Given the description of an element on the screen output the (x, y) to click on. 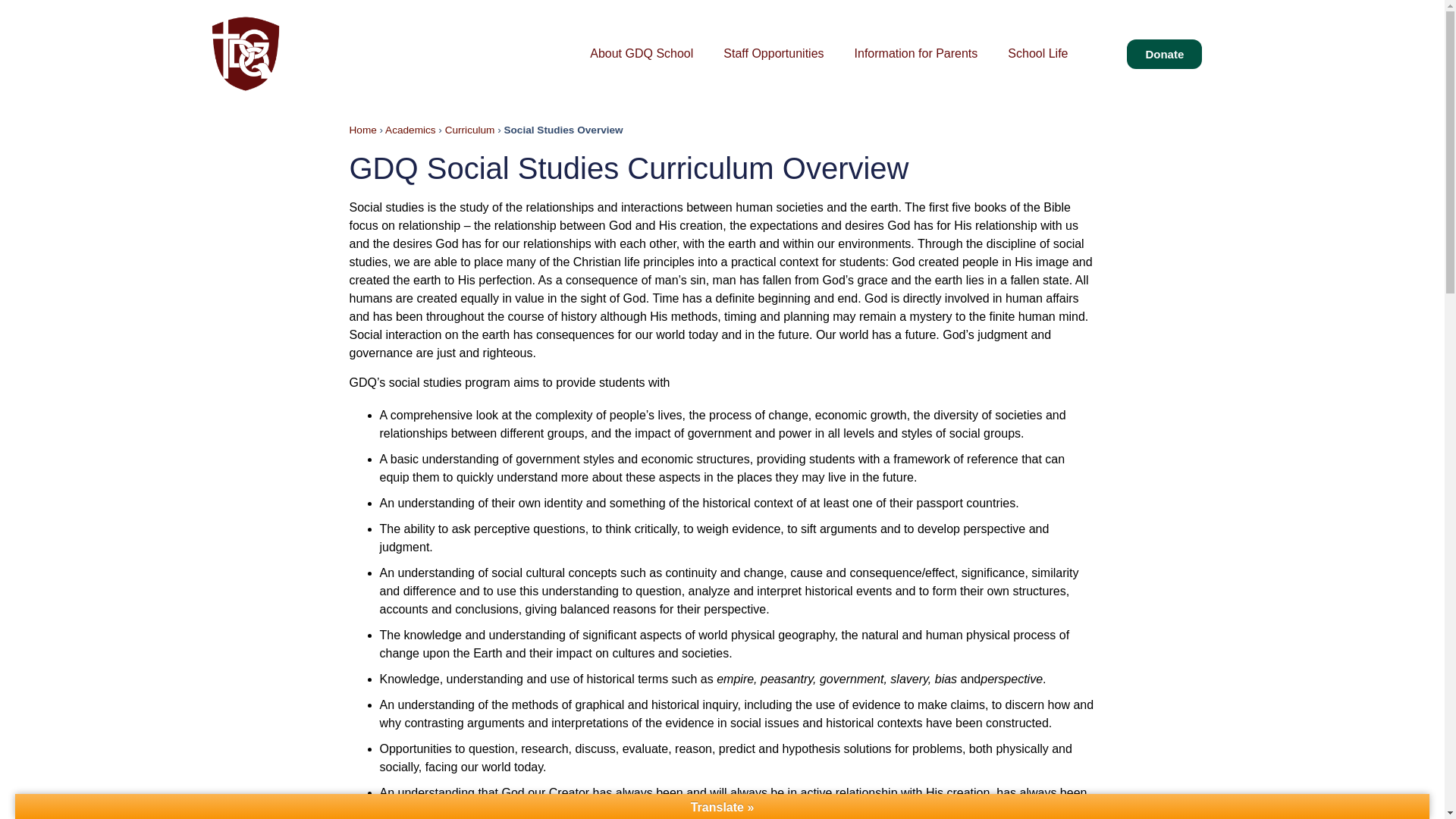
Information for Parents (916, 53)
School Life (1037, 53)
Staff Opportunities (772, 53)
About GDQ School (641, 53)
